Given the description of an element on the screen output the (x, y) to click on. 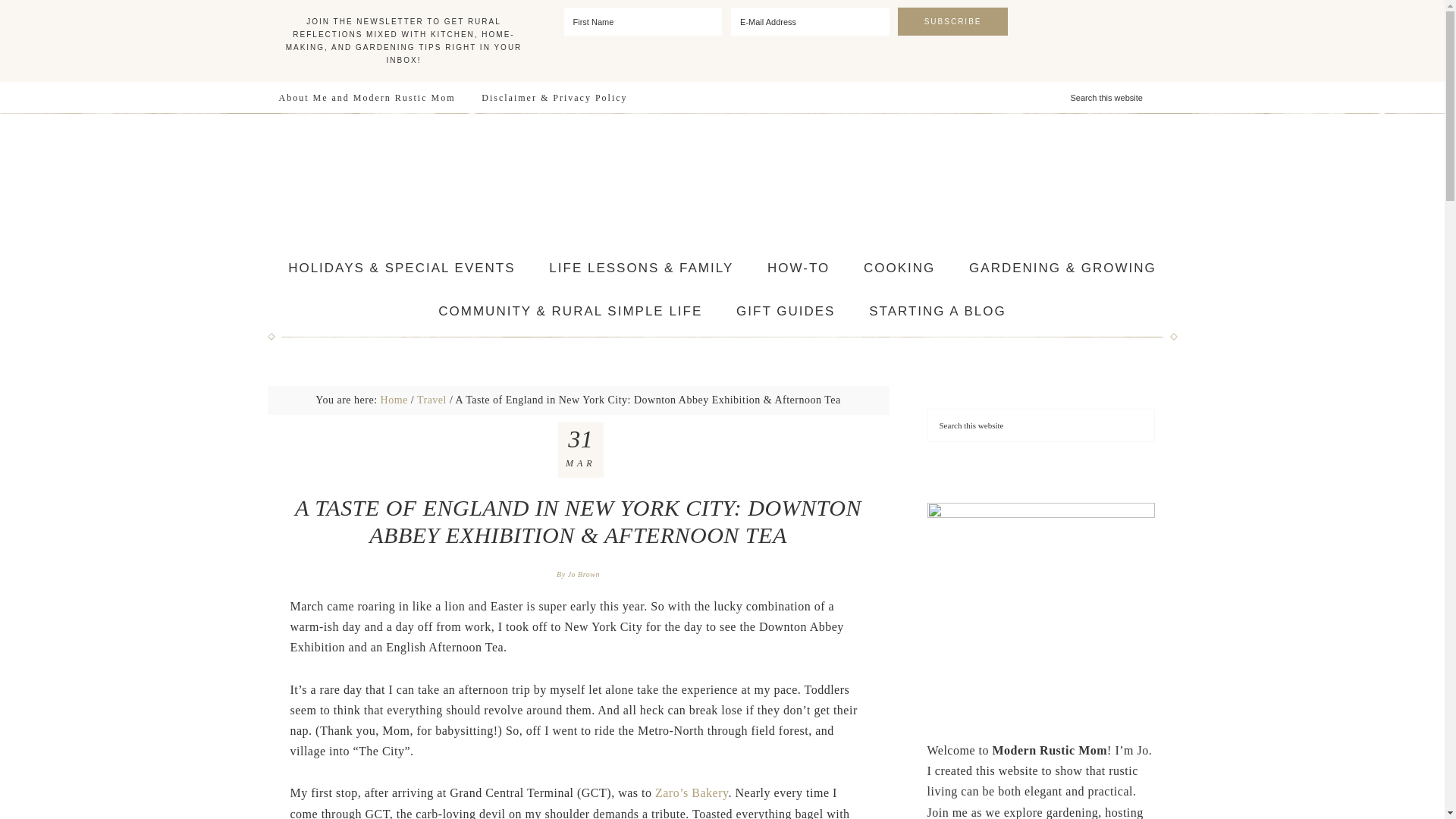
Subscribe (953, 21)
GIFT GUIDES (785, 310)
MODERN RUSTIC MOM (722, 179)
HOW-TO (798, 267)
STARTING A BLOG (937, 310)
Home (393, 399)
Subscribe (953, 21)
Travel (431, 399)
About Me and Modern Rustic Mom (365, 97)
